Given the description of an element on the screen output the (x, y) to click on. 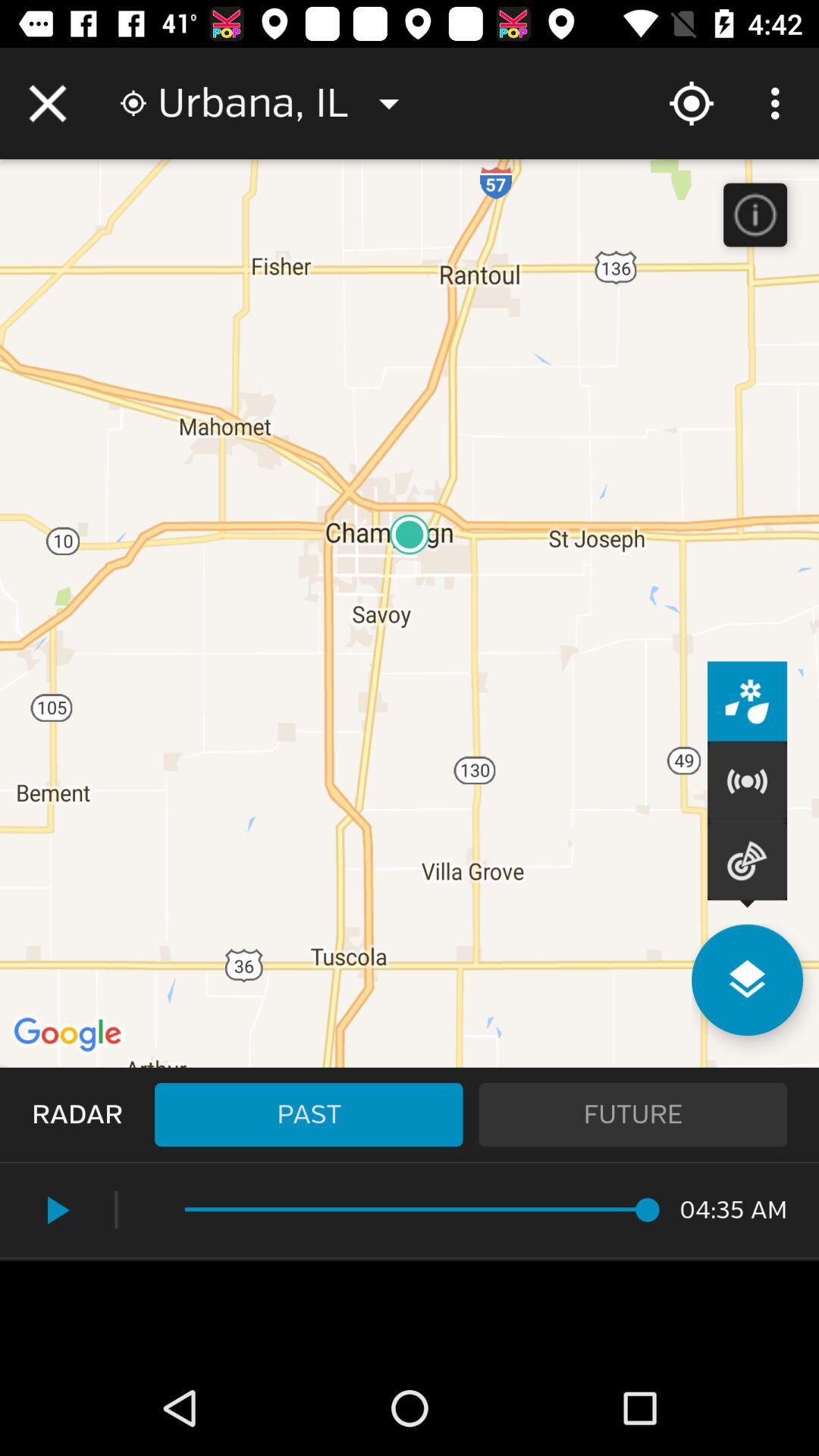
flip to the future icon (632, 1114)
